Given the description of an element on the screen output the (x, y) to click on. 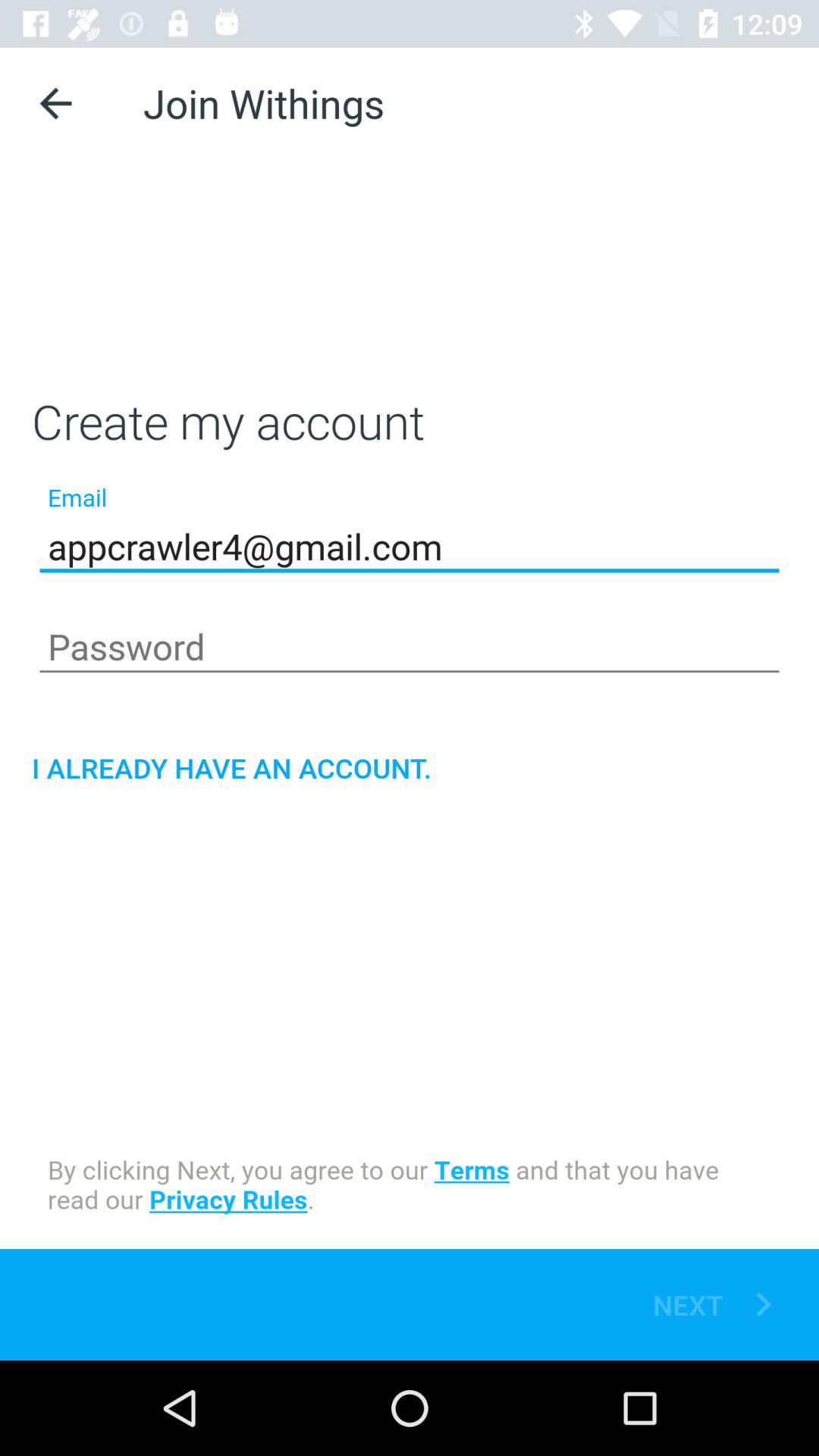
hyper linked to terms of service and privacy rules (409, 1187)
